Given the description of an element on the screen output the (x, y) to click on. 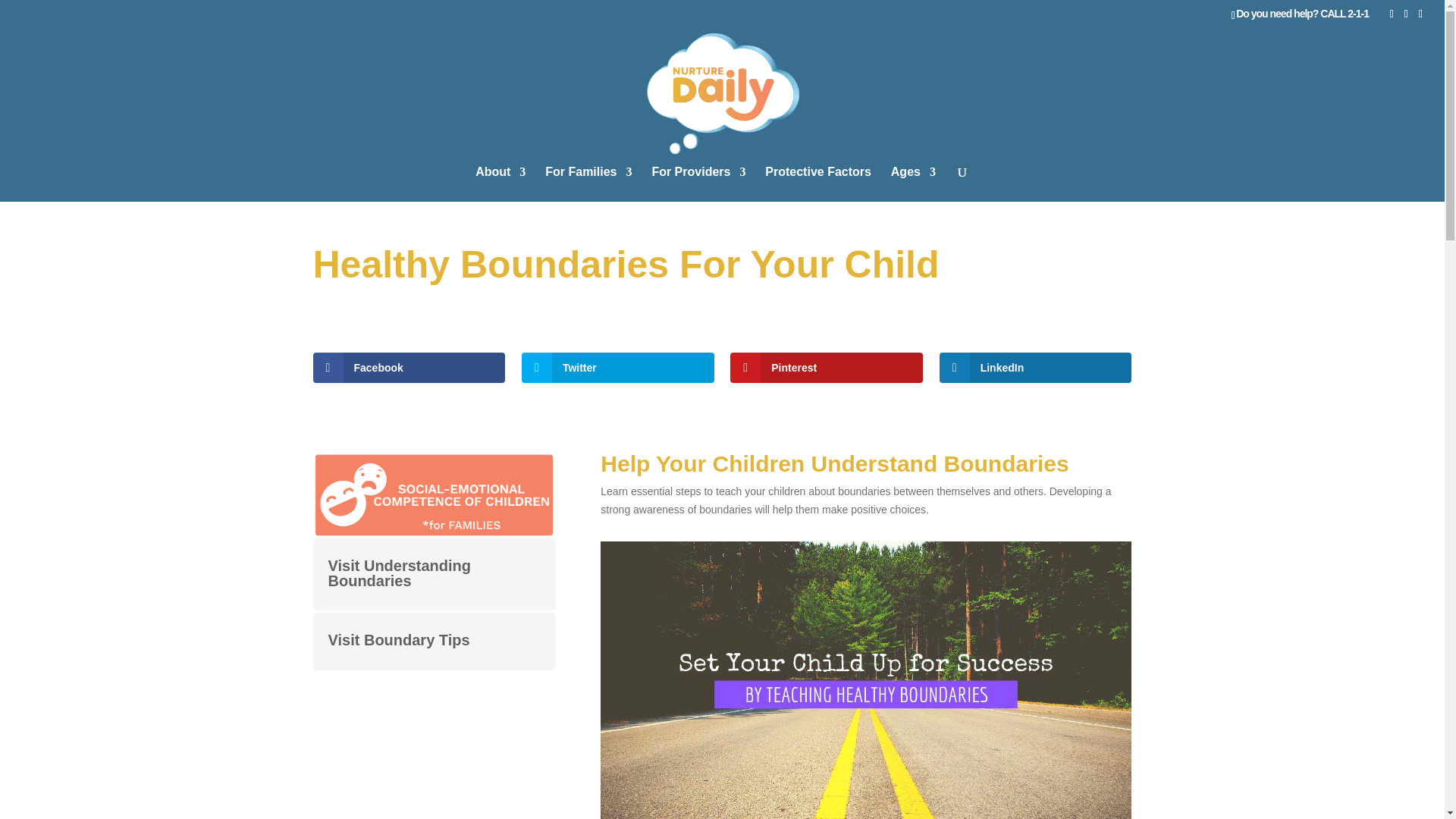
Ages (913, 184)
For Providers (697, 184)
About (500, 184)
Protective Factors (817, 184)
For Families (587, 184)
